Given the description of an element on the screen output the (x, y) to click on. 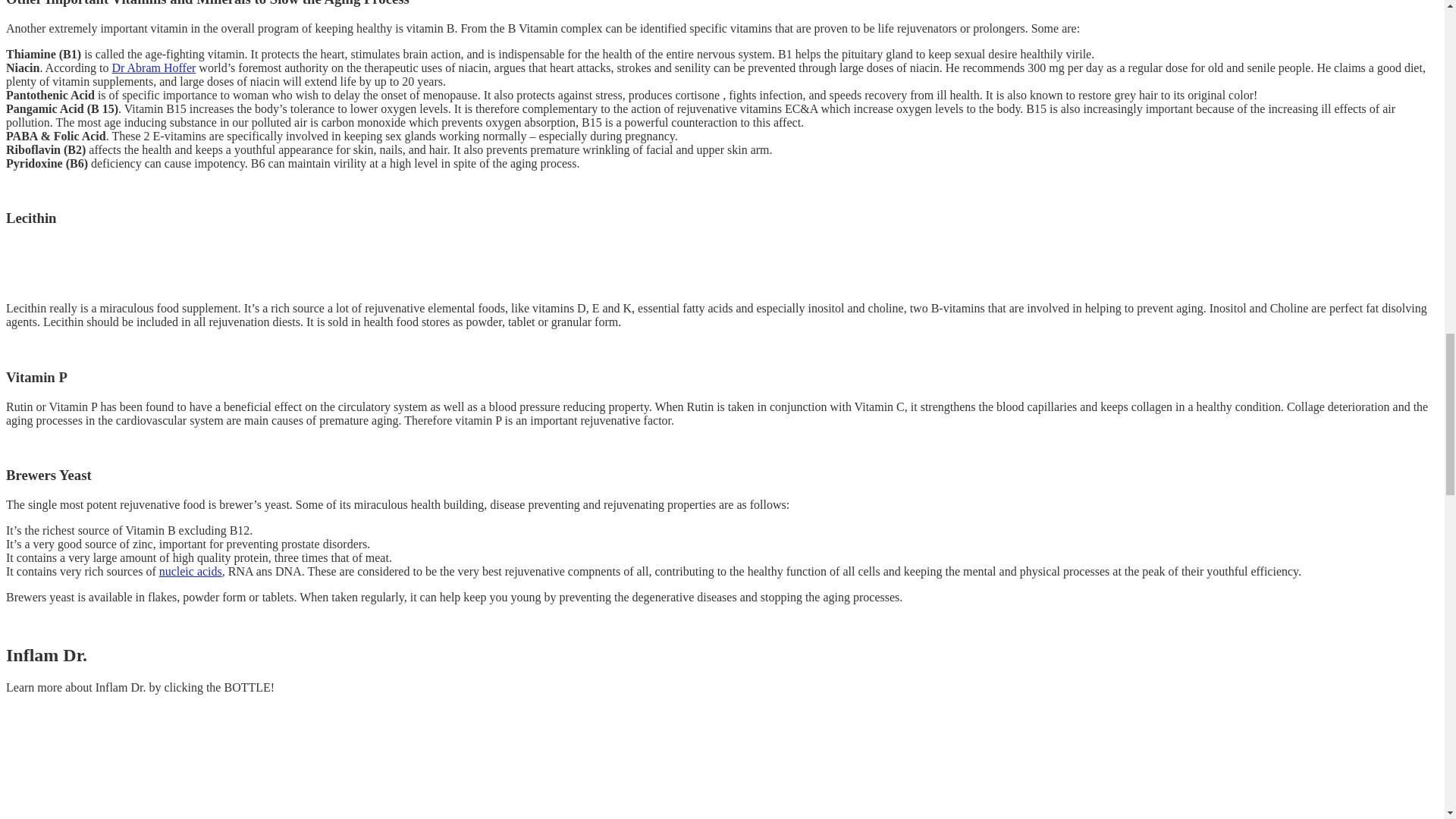
nucleic acids (190, 571)
Dr Abram Hoffer (154, 67)
Advertisement (191, 263)
nucleic acids (190, 571)
Dr Abram Hoffer (154, 67)
